Given the description of an element on the screen output the (x, y) to click on. 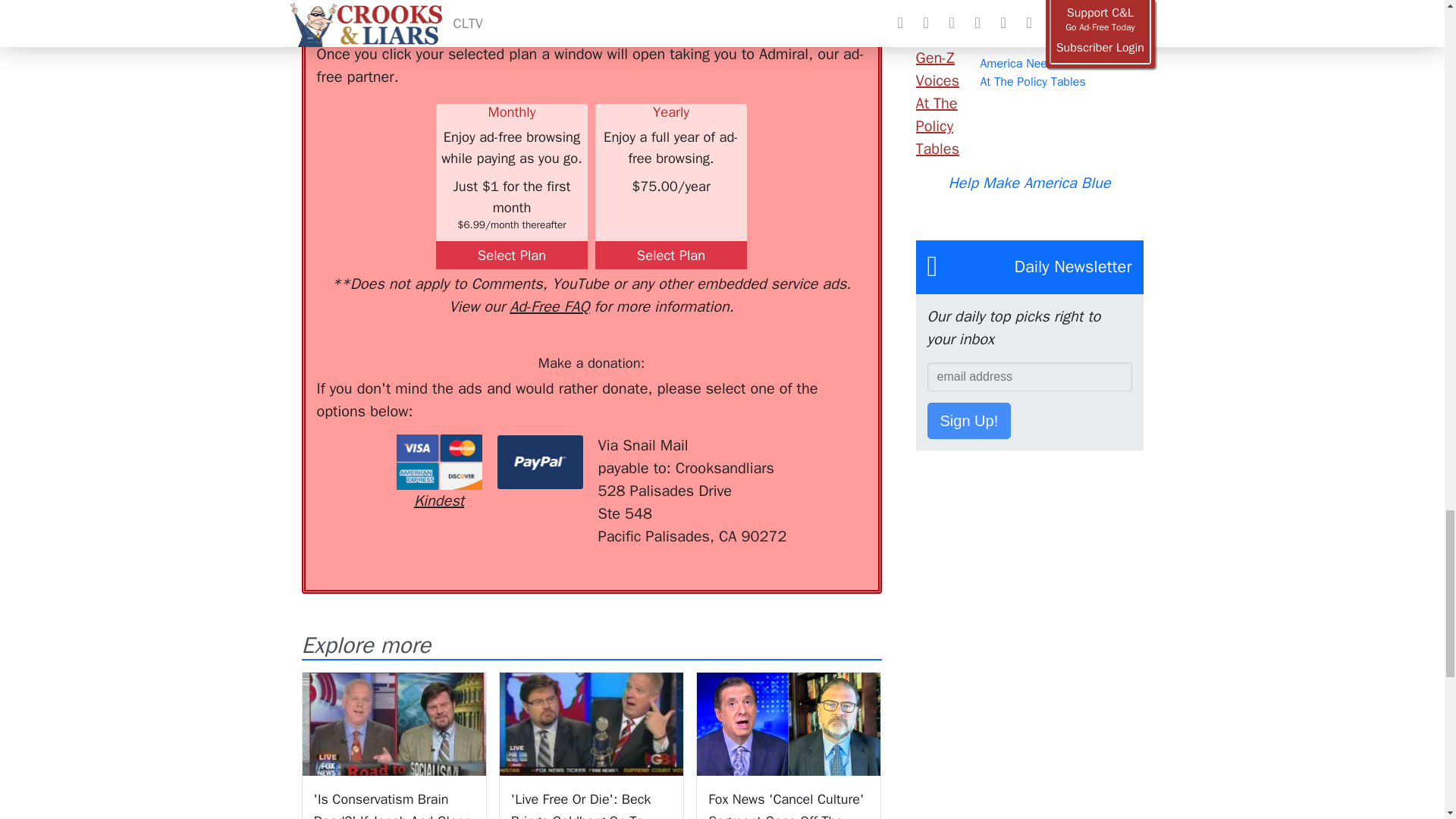
Donate via PayPal (540, 461)
Donate via Kindest (438, 473)
